Given the description of an element on the screen output the (x, y) to click on. 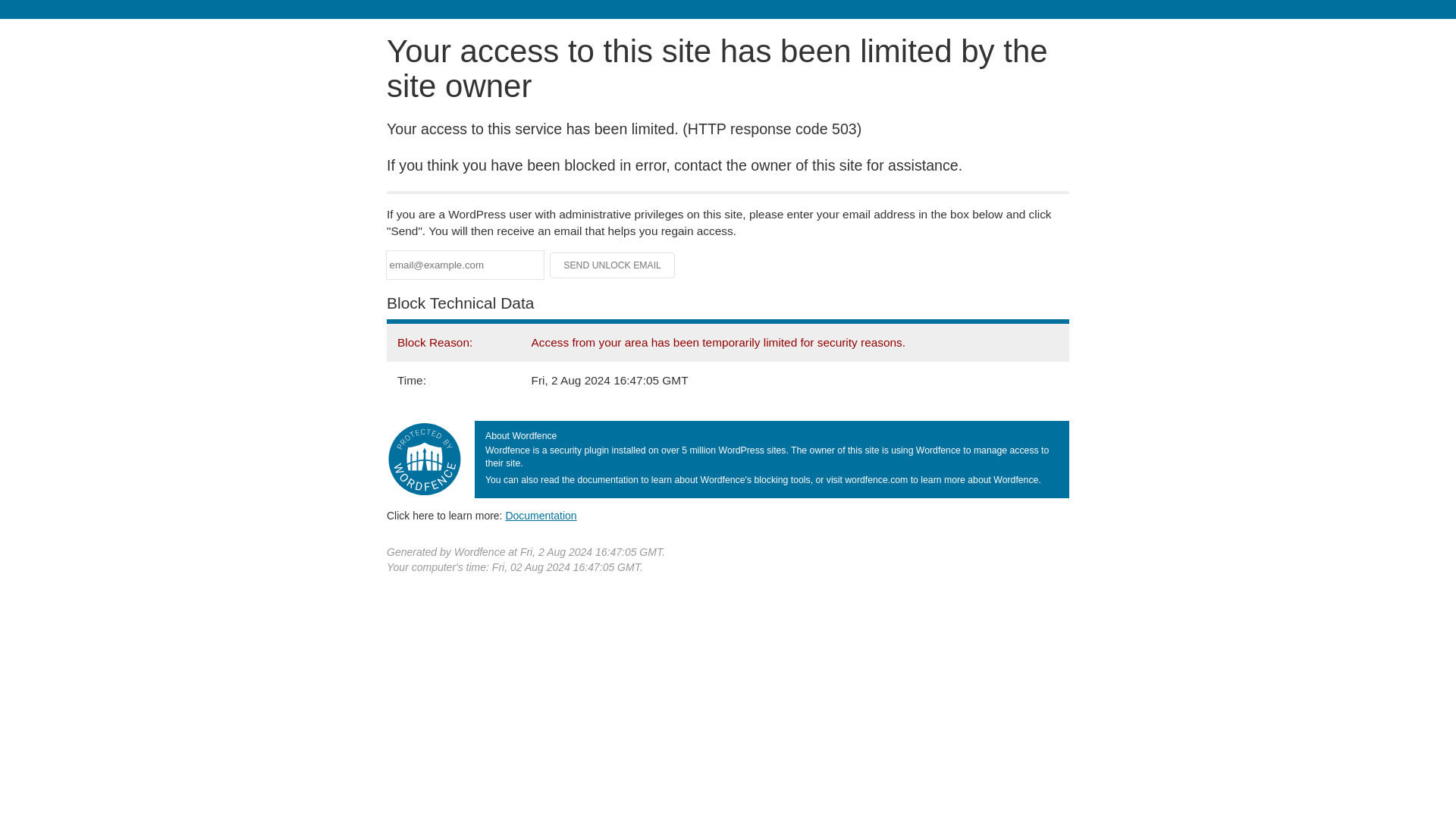
Send Unlock Email (612, 265)
Send Unlock Email (612, 265)
Documentation (540, 515)
